Given the description of an element on the screen output the (x, y) to click on. 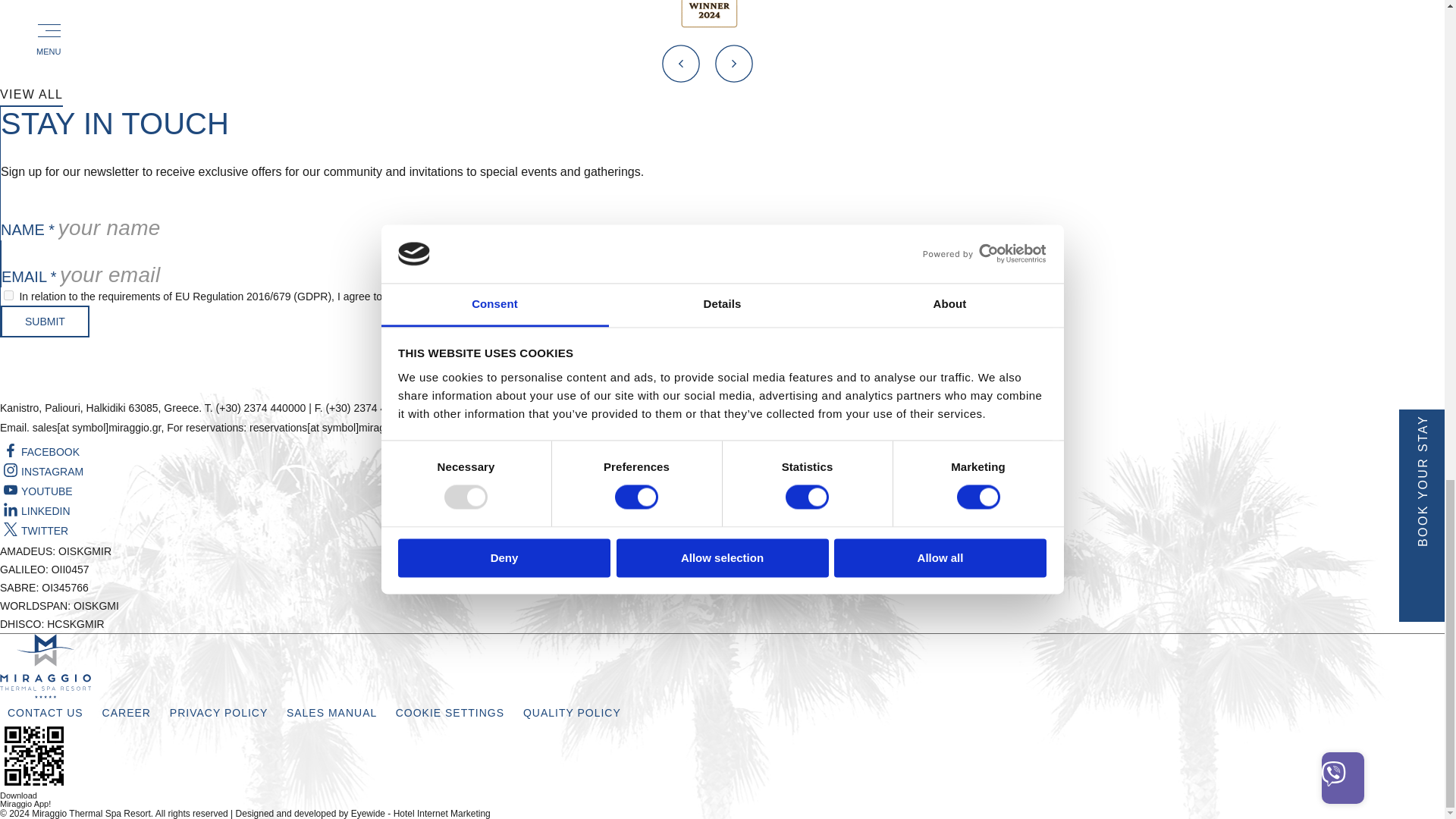
Luxury Lifestyle Awards 2024 (706, 27)
VIEW ALL (31, 94)
true (8, 295)
